Given the description of an element on the screen output the (x, y) to click on. 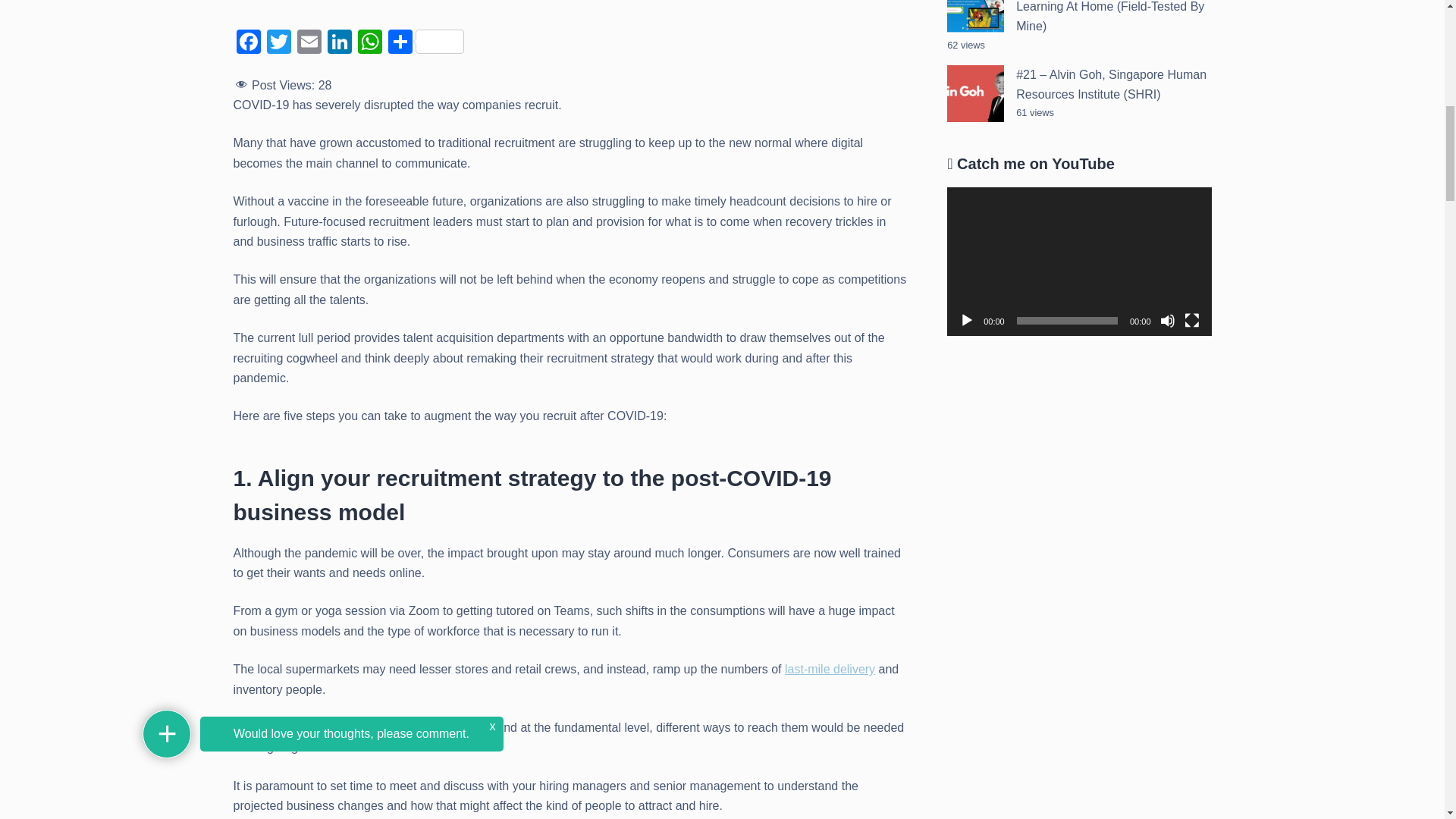
WhatsApp (370, 43)
Facebook (247, 43)
Twitter (278, 43)
Mute (1167, 320)
Email (309, 43)
Fullscreen (1192, 320)
Play (966, 320)
LinkedIn (339, 43)
